Given the description of an element on the screen output the (x, y) to click on. 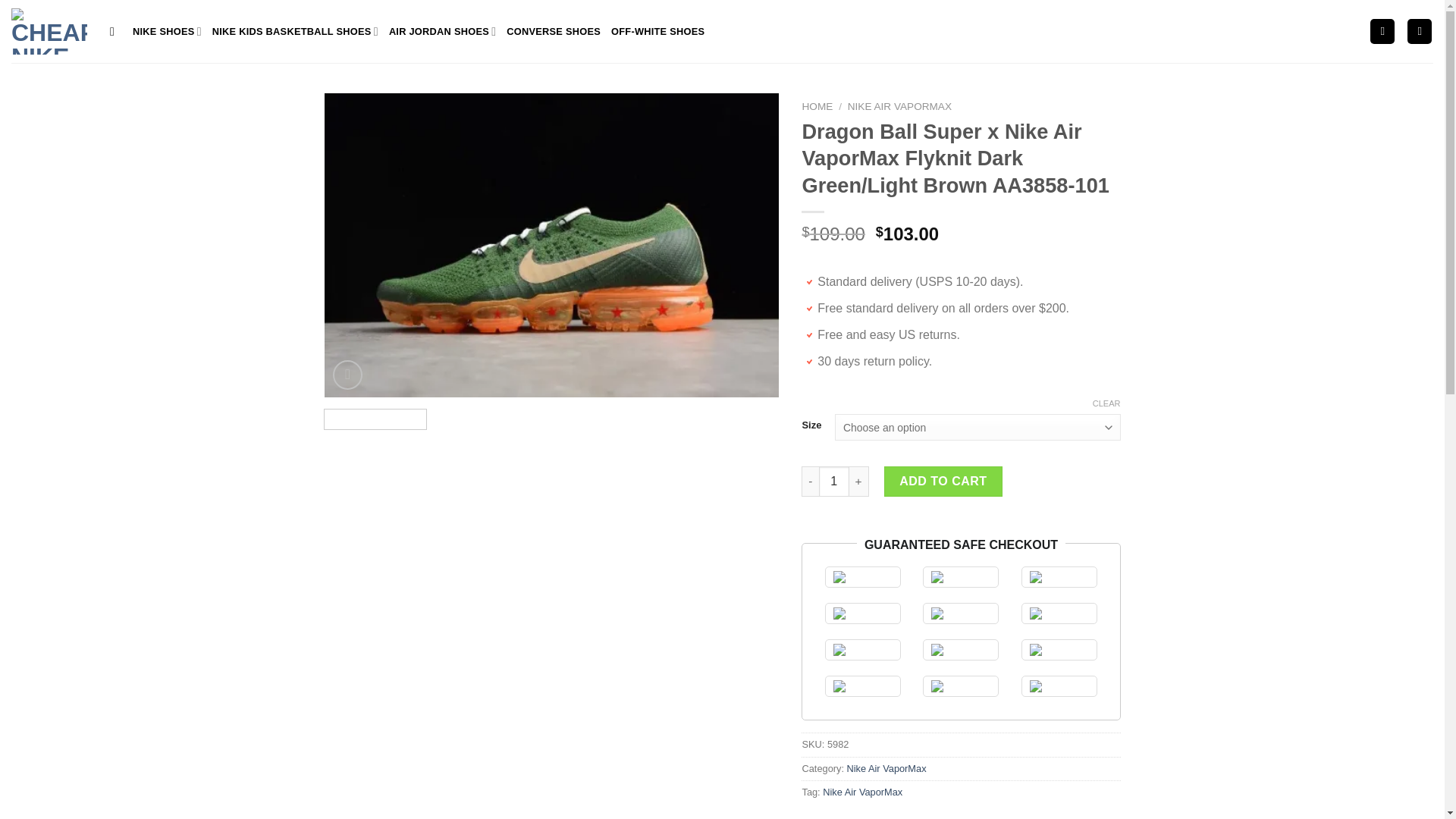
Cheap Nike Sneakers (49, 31)
NIKE SHOES (167, 30)
Qty (833, 481)
Cart (1419, 31)
1 (833, 481)
Zoom (347, 374)
